Given the description of an element on the screen output the (x, y) to click on. 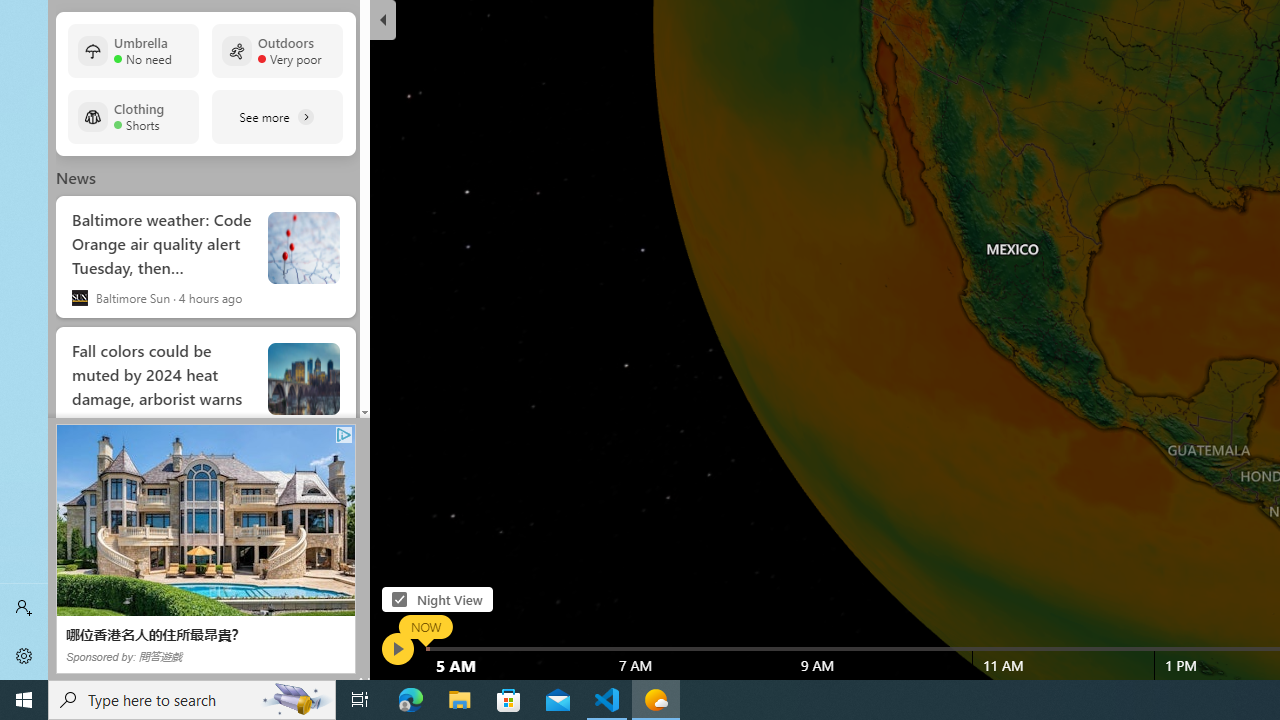
Sign in (24, 607)
Weather - 1 running window (656, 699)
Settings (24, 655)
